Given the description of an element on the screen output the (x, y) to click on. 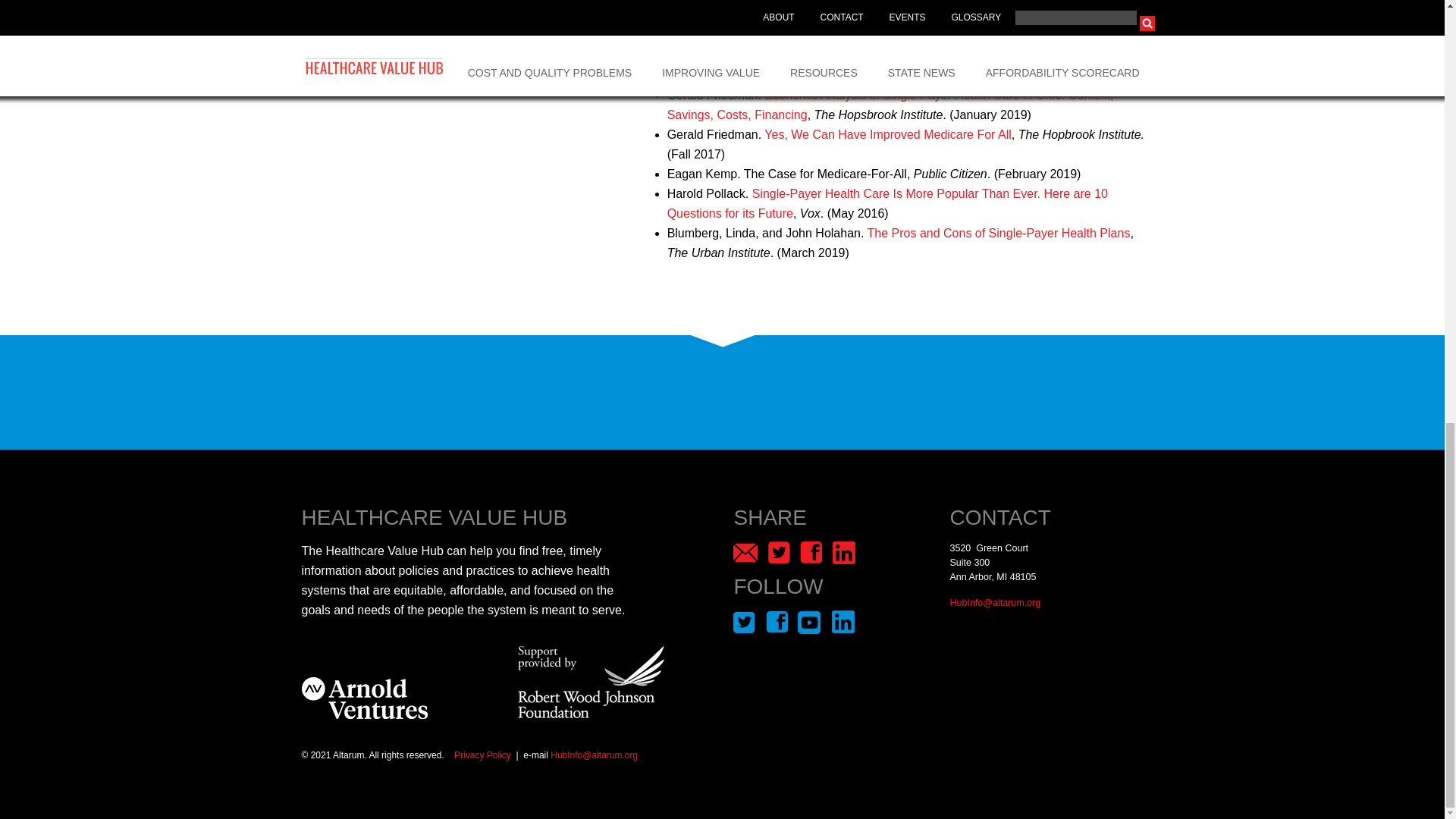
email (995, 602)
Single Payer Is Not a Principle (833, 35)
